Given the description of an element on the screen output the (x, y) to click on. 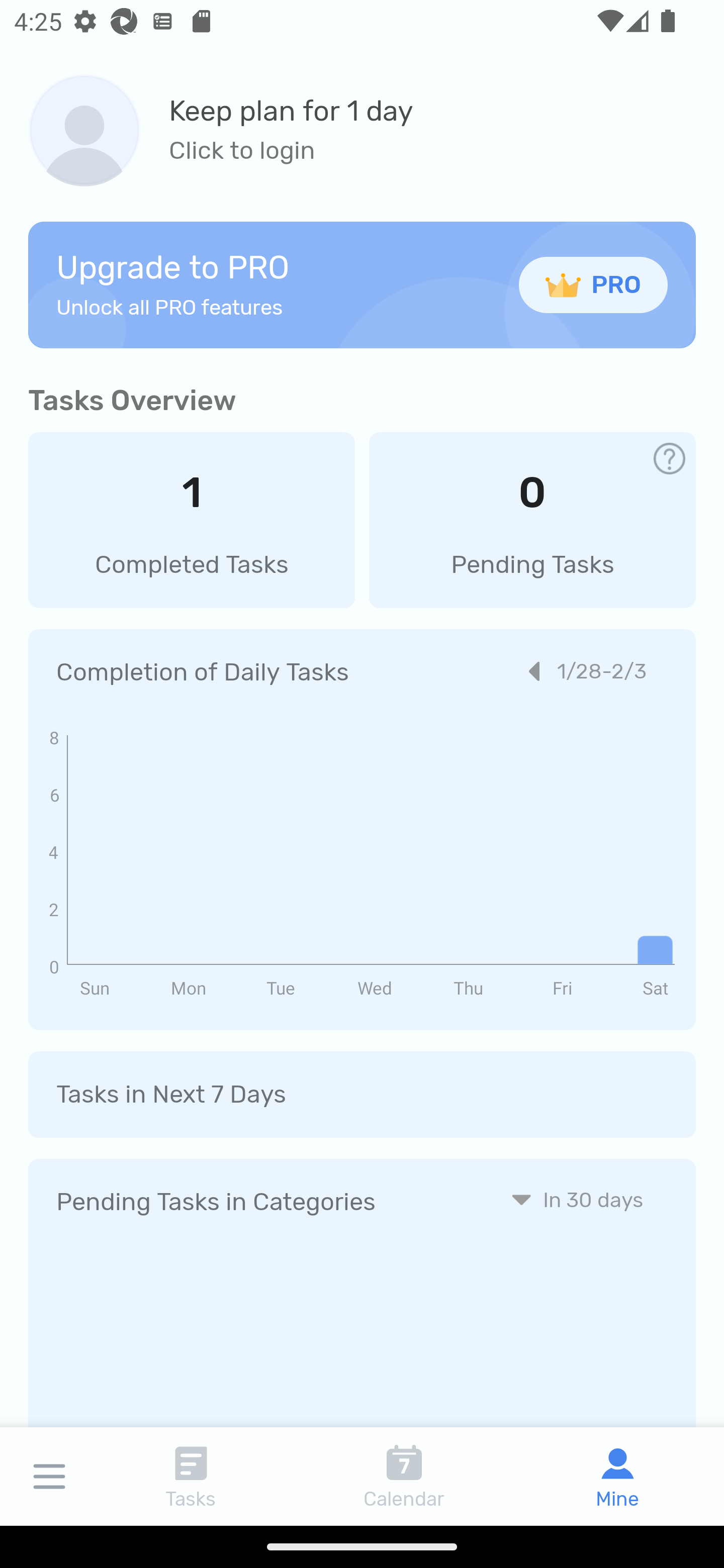
Click to login (291, 151)
Upgrade to PRO Unlock all PRO features PRO (361, 284)
In 30 days (577, 1199)
Tasks (190, 1475)
Calendar (404, 1475)
Mine (617, 1475)
